Given the description of an element on the screen output the (x, y) to click on. 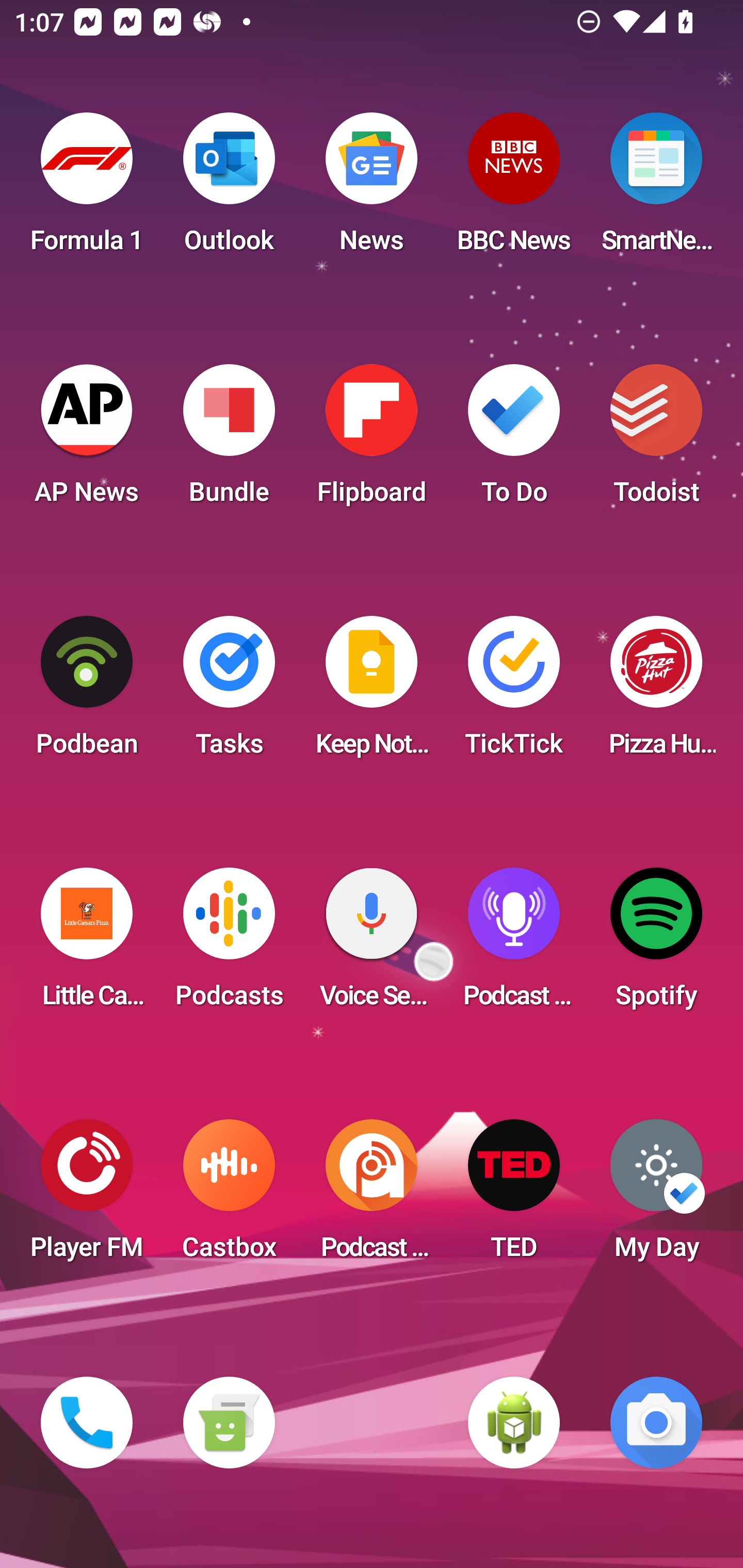
Formula 1 (86, 188)
Outlook (228, 188)
News (371, 188)
BBC News (513, 188)
SmartNews (656, 188)
AP News (86, 440)
Bundle (228, 440)
Flipboard (371, 440)
To Do (513, 440)
Todoist (656, 440)
Podbean (86, 692)
Tasks (228, 692)
Keep Notes (371, 692)
TickTick (513, 692)
Pizza Hut HK & Macau (656, 692)
Little Caesars Pizza (86, 943)
Podcasts (228, 943)
Voice Search (371, 943)
Podcast Player (513, 943)
Spotify (656, 943)
Player FM (86, 1195)
Castbox (228, 1195)
Podcast Addict (371, 1195)
TED (513, 1195)
My Day (656, 1195)
Phone (86, 1422)
Messaging (228, 1422)
WebView Browser Tester (513, 1422)
Camera (656, 1422)
